Given the description of an element on the screen output the (x, y) to click on. 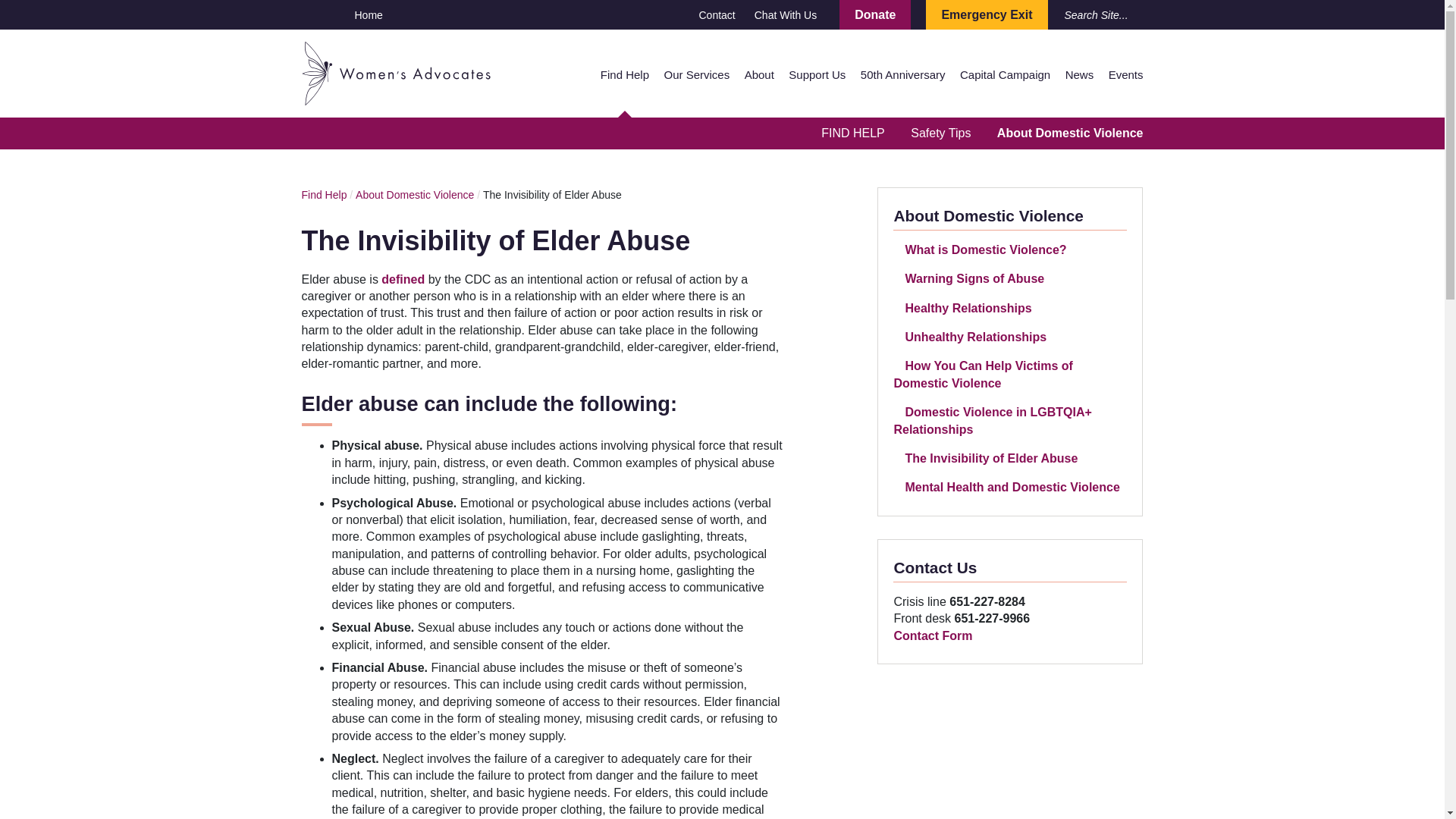
Find Help (624, 74)
Emergency Exit (986, 14)
About (759, 74)
Facebook (309, 14)
Contact (716, 15)
Twitter (334, 14)
50th Anniversary (902, 74)
Capital Campaign (1004, 74)
Events (1125, 74)
Women's Advocates (395, 70)
